Given the description of an element on the screen output the (x, y) to click on. 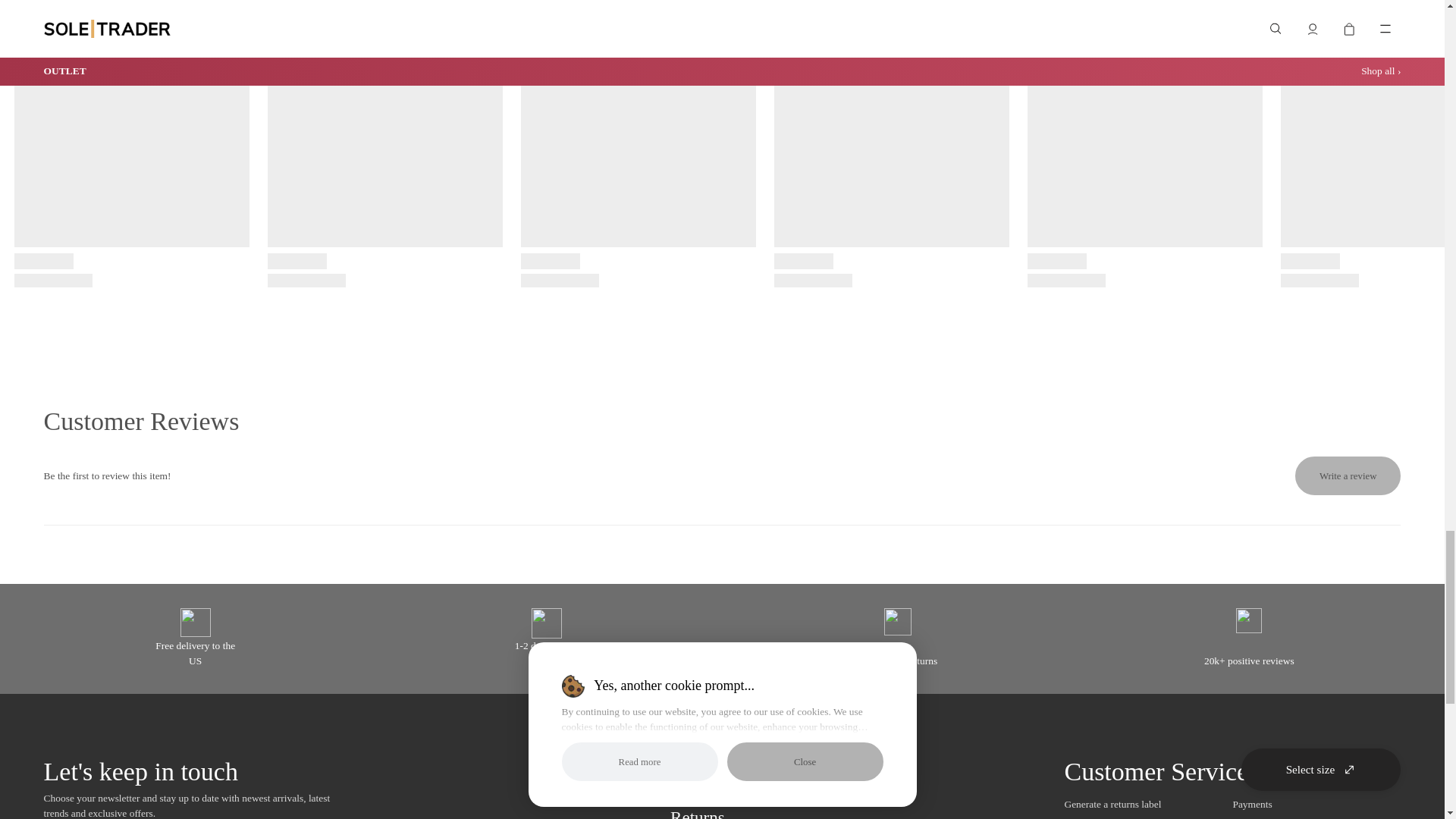
Returns (697, 813)
Payments (1251, 803)
Write a review (1347, 475)
Delivery (700, 791)
About us (701, 764)
Generate a returns label (1112, 803)
